Given the description of an element on the screen output the (x, y) to click on. 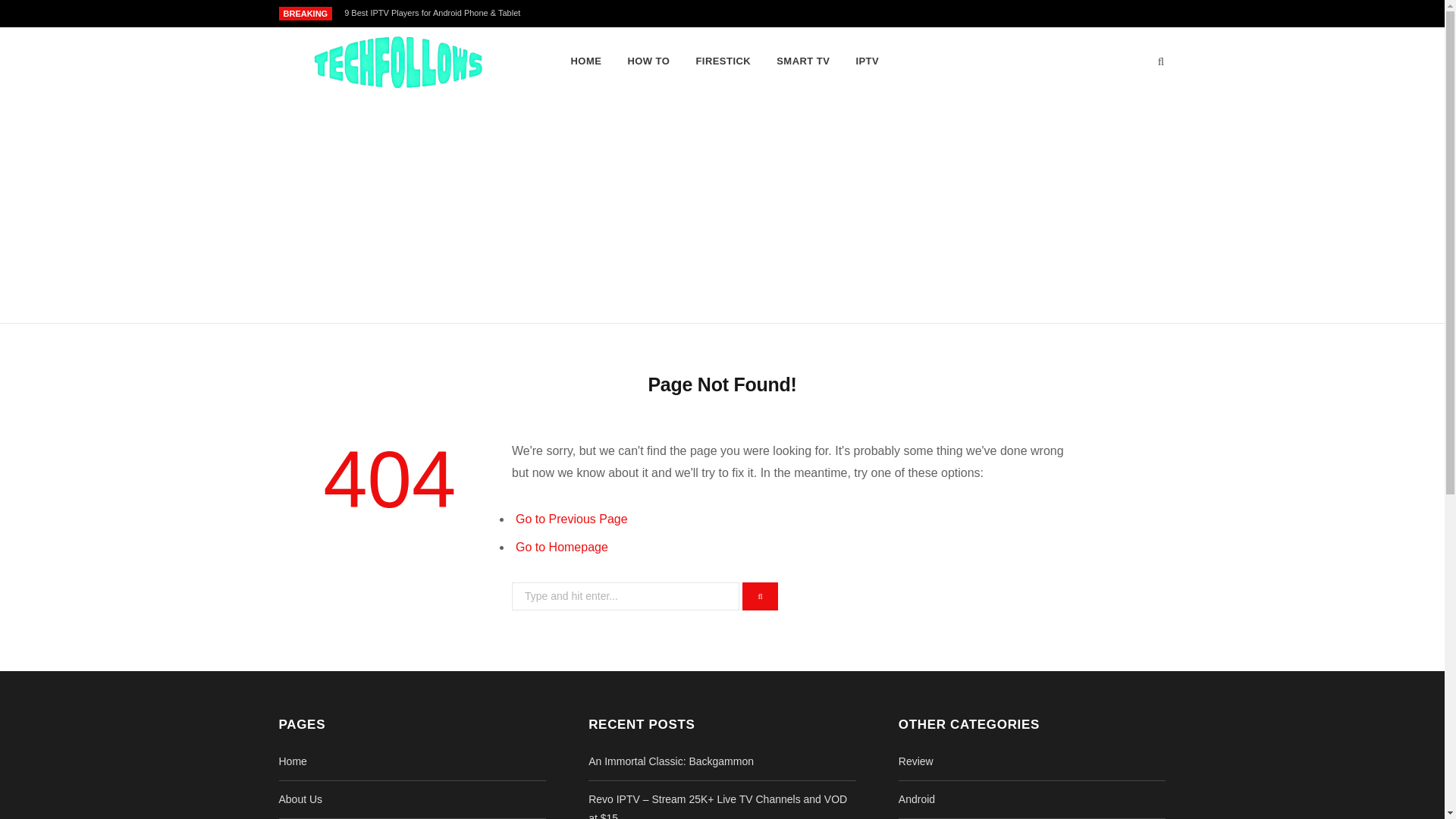
Android (916, 799)
HOW TO (648, 61)
Search for: (625, 596)
Go to Previous Page (571, 518)
SMART TV (803, 61)
About Us (301, 799)
FIRESTICK (722, 61)
An Immortal Classic: Backgammon (671, 761)
Tech Follows (400, 62)
Go to Homepage (561, 546)
Home (293, 761)
Review (915, 761)
